Given the description of an element on the screen output the (x, y) to click on. 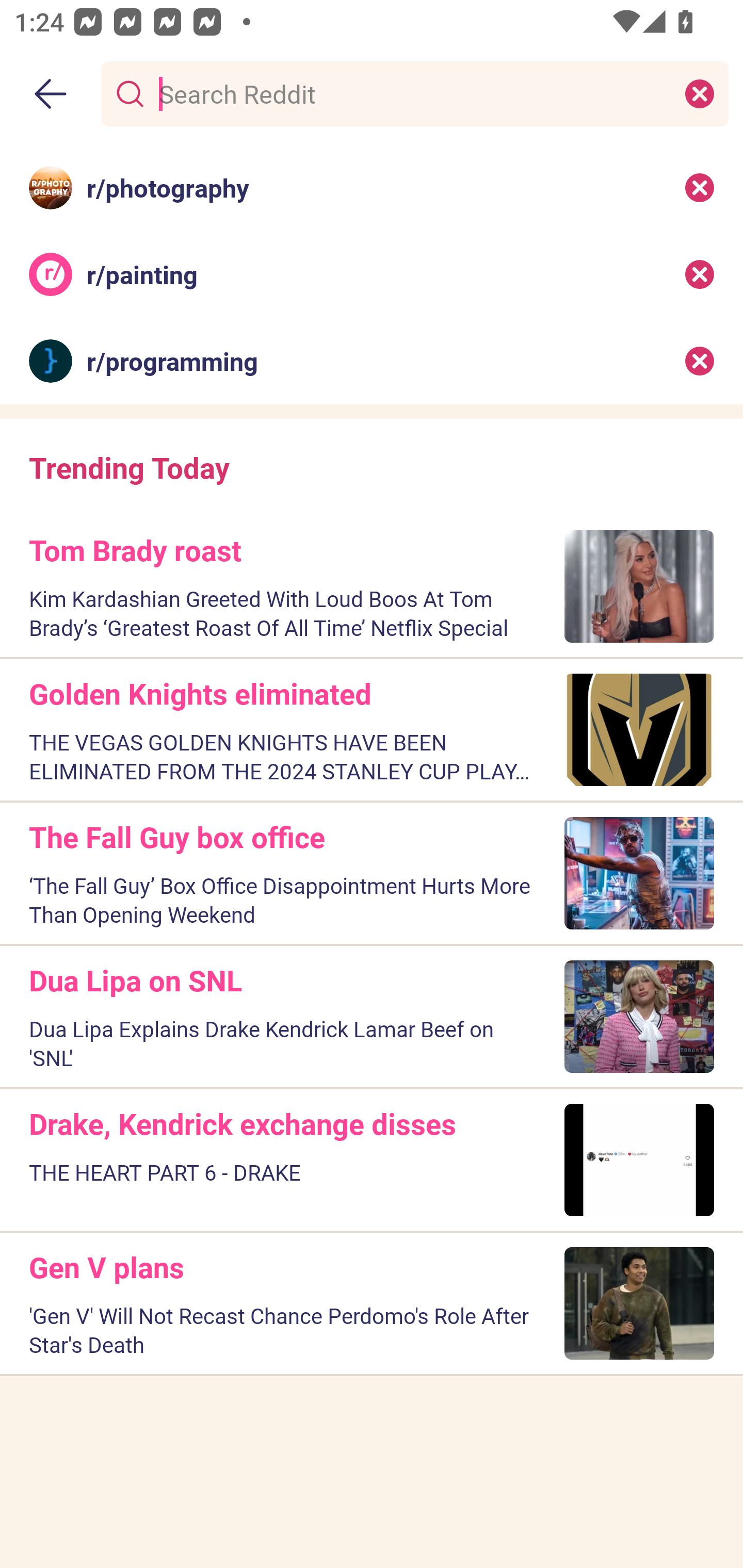
Back (50, 93)
Search Reddit (410, 93)
Clear search (699, 93)
r/photography Recent search: r/photography Remove (371, 187)
Remove (699, 187)
r/painting Recent search: r/painting Remove (371, 274)
Remove (699, 274)
r/programming Recent search: r/programming Remove (371, 361)
Remove (699, 361)
